Given the description of an element on the screen output the (x, y) to click on. 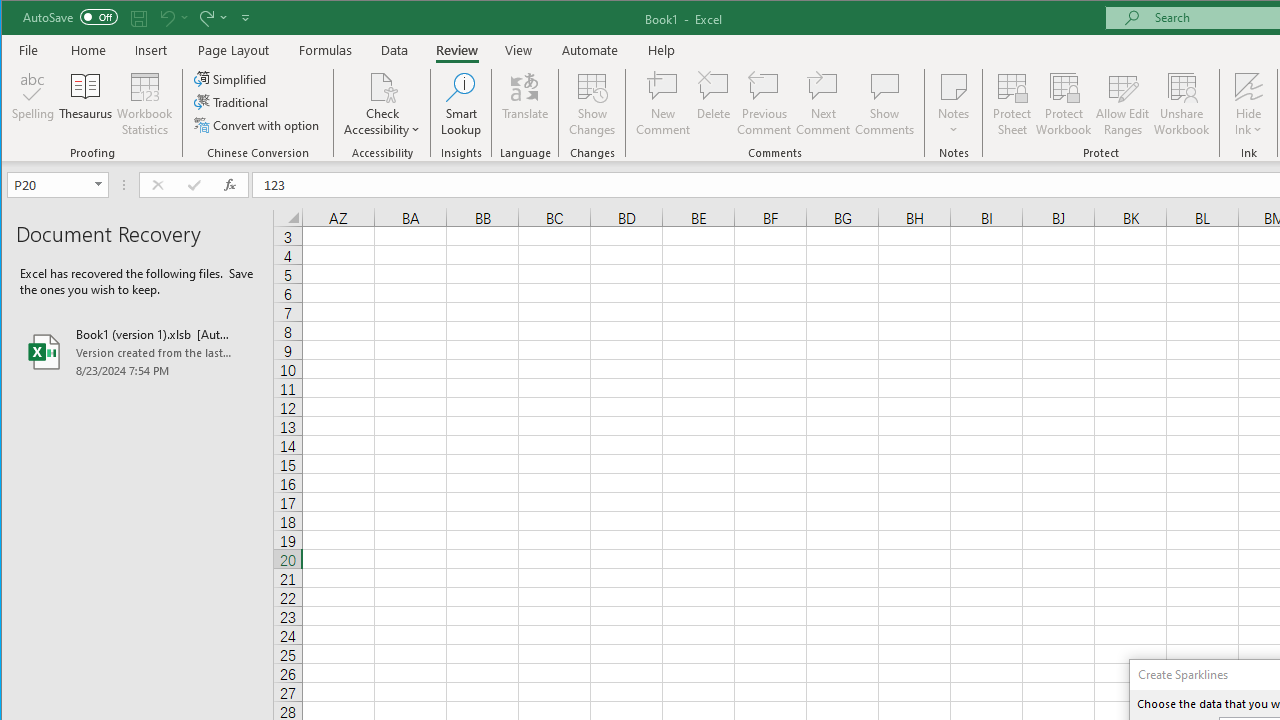
Help (661, 50)
Data (395, 50)
Book1 (version 1).xlsb  [AutoRecovered] (137, 352)
Insert (151, 50)
New Comment (662, 104)
View (518, 50)
Save (139, 17)
Check Accessibility (381, 86)
Home (88, 50)
Review (456, 50)
Thesaurus... (86, 104)
Smart Lookup (461, 104)
